Given the description of an element on the screen output the (x, y) to click on. 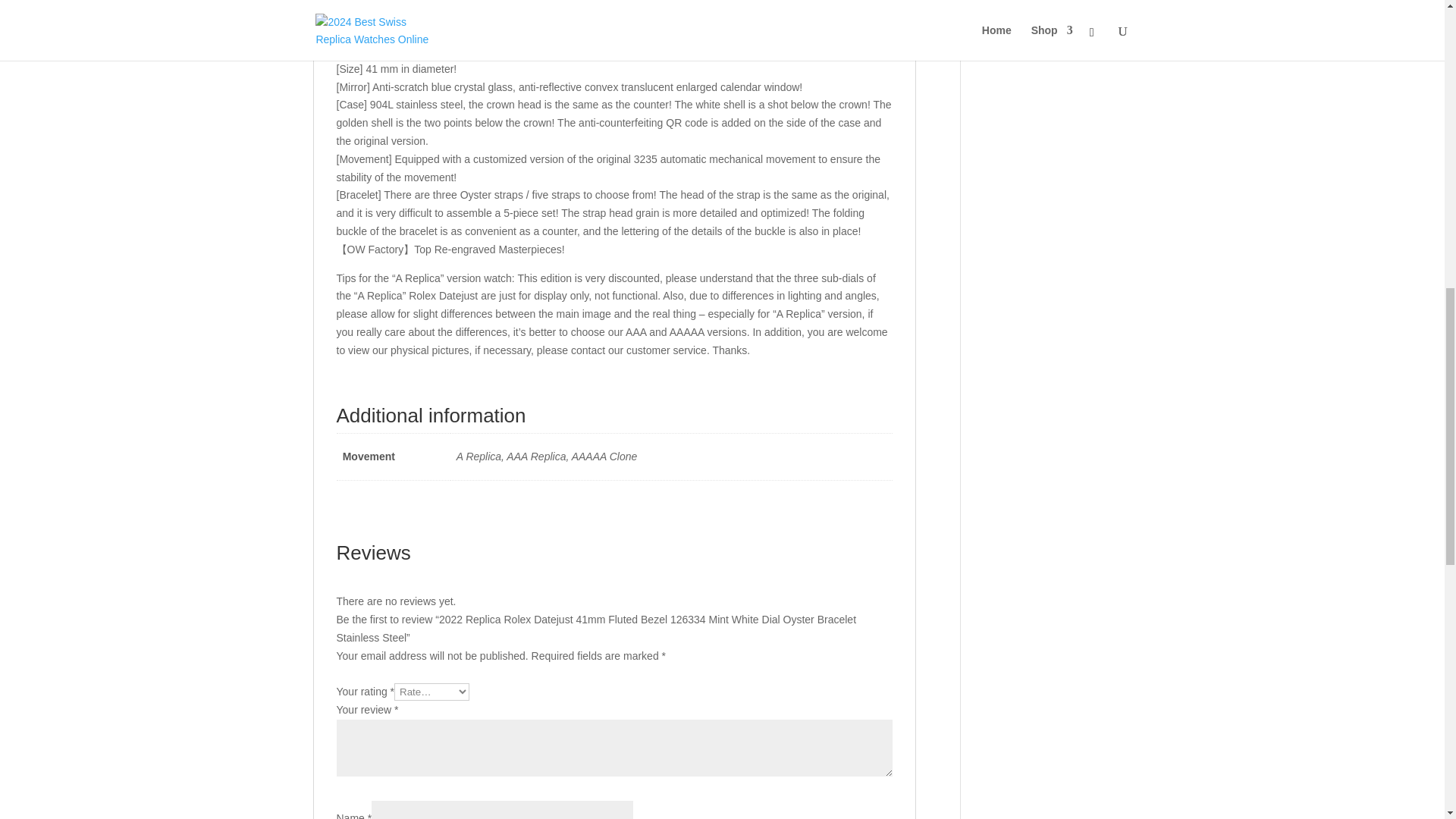
Description (358, 5)
Additional information (477, 5)
